Given the description of an element on the screen output the (x, y) to click on. 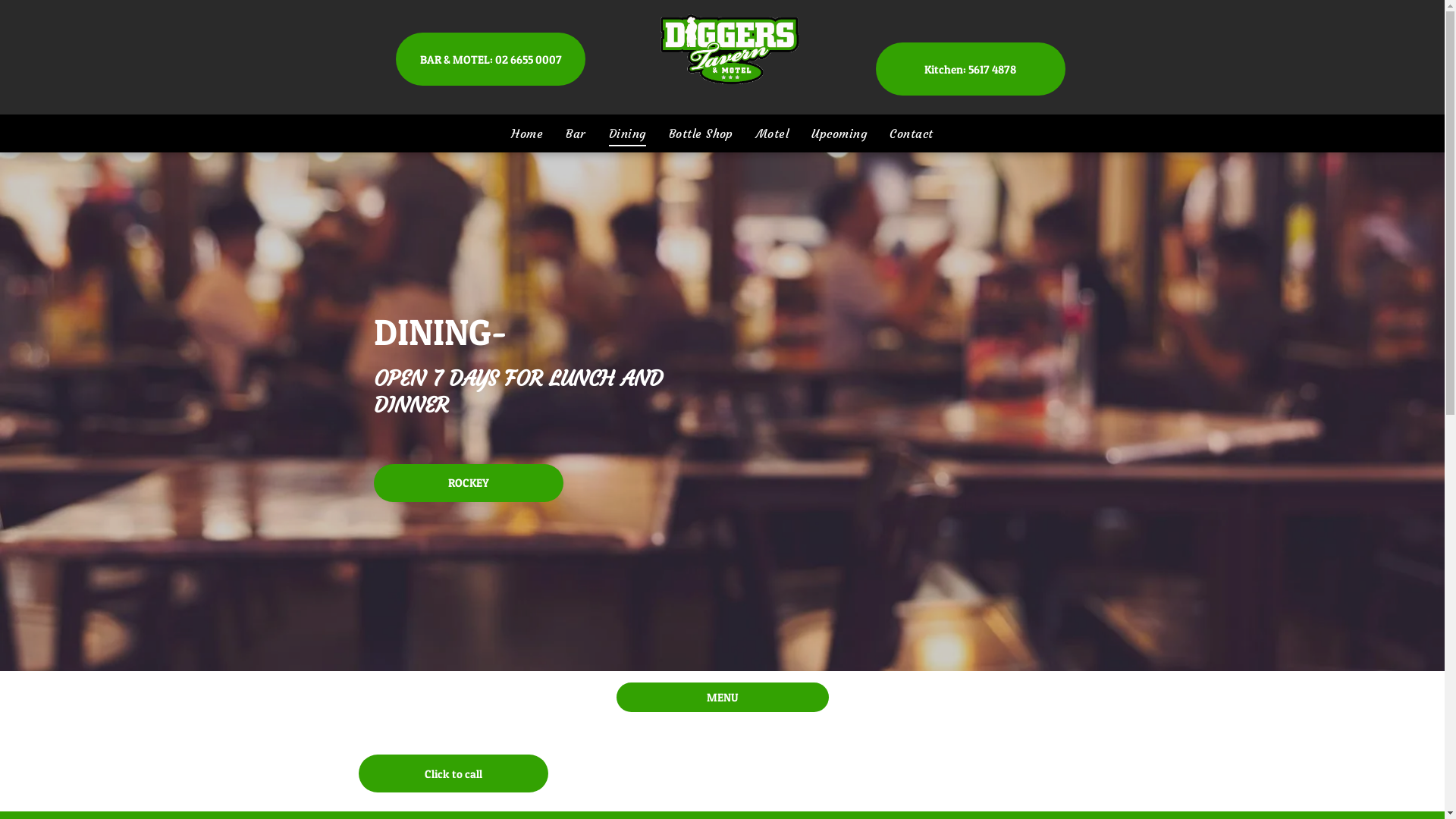
Motel Element type: text (772, 133)
Kitchen: 5617 4878 Element type: text (970, 68)
Contact Element type: text (911, 133)
Bottle Shop Element type: text (700, 133)
BAR & MOTEL: 02 6655 0007 Element type: text (490, 58)
MENU Element type: text (721, 697)
Upcoming Element type: text (839, 133)
Click to call Element type: text (452, 773)
ROCKEY Element type: text (467, 483)
Bar Element type: text (575, 133)
Dining Element type: text (627, 133)
Home Element type: text (526, 133)
